Given the description of an element on the screen output the (x, y) to click on. 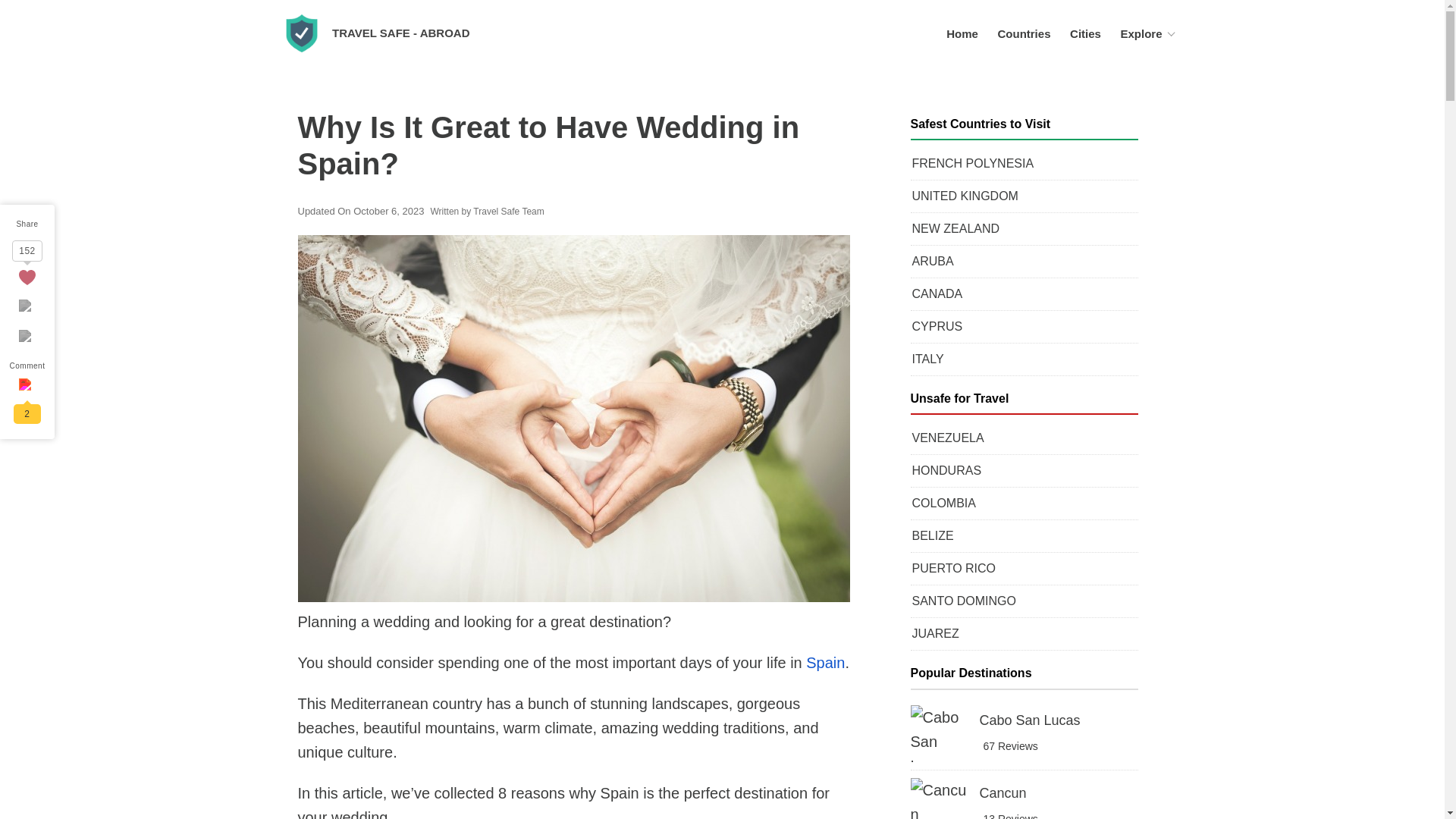
Cabo San Lucas Safety Review (1023, 733)
Explore (1140, 33)
Share on Pinterest (26, 338)
Share on Facebook (26, 307)
TRAVEL SAFE - ABROAD (399, 32)
Cancun Safety Review (1023, 798)
Cities (1085, 33)
Spain (825, 662)
Home (962, 33)
